Given the description of an element on the screen output the (x, y) to click on. 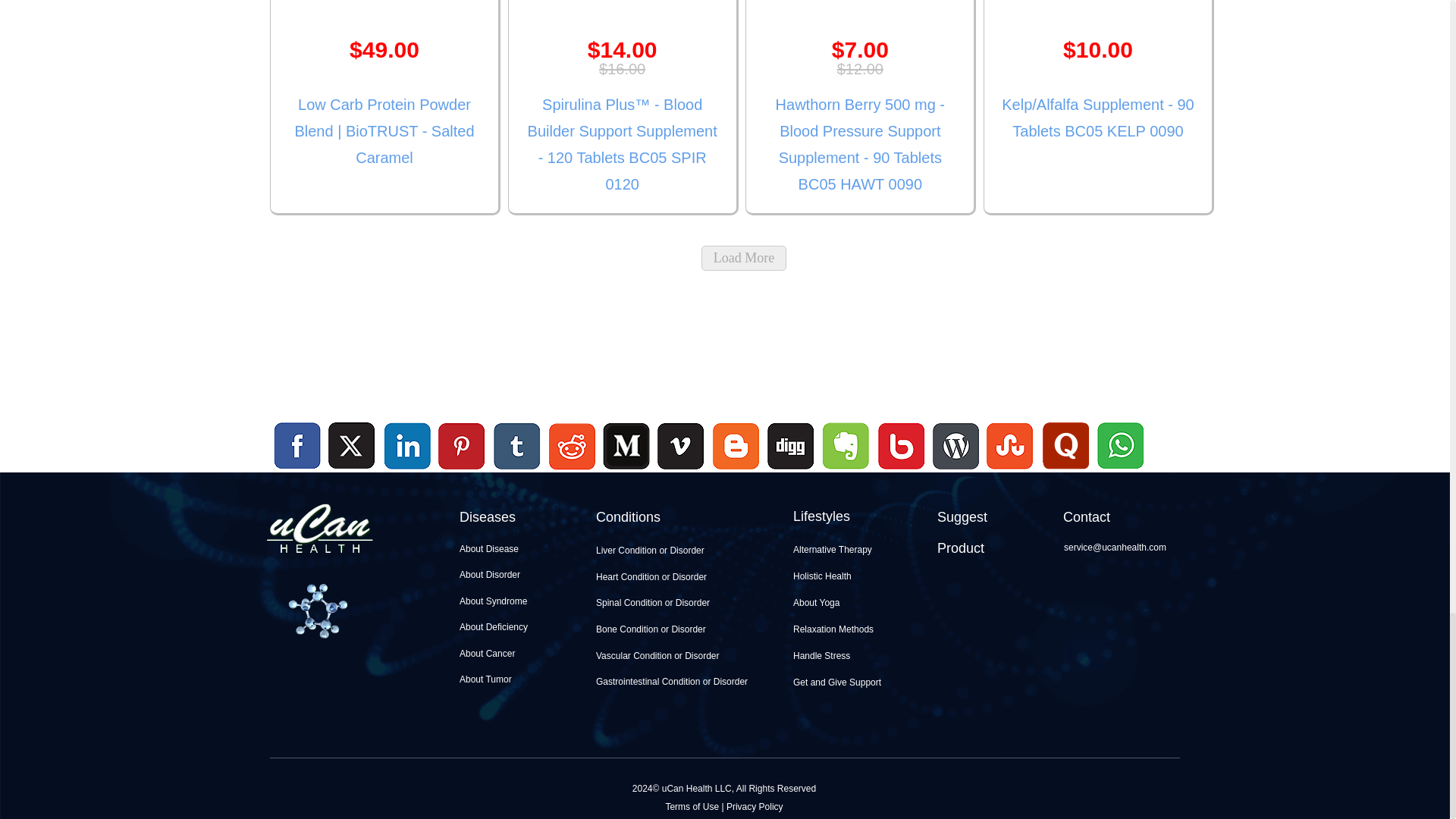
Worldpress (955, 471)
Reddit (571, 471)
Blogger (735, 471)
LinkedIn (408, 446)
Digg (790, 471)
Bebo (900, 471)
Quora (1065, 471)
Pinterest (462, 446)
WhatsApp (1118, 471)
Vimeo (682, 446)
